Given the description of an element on the screen output the (x, y) to click on. 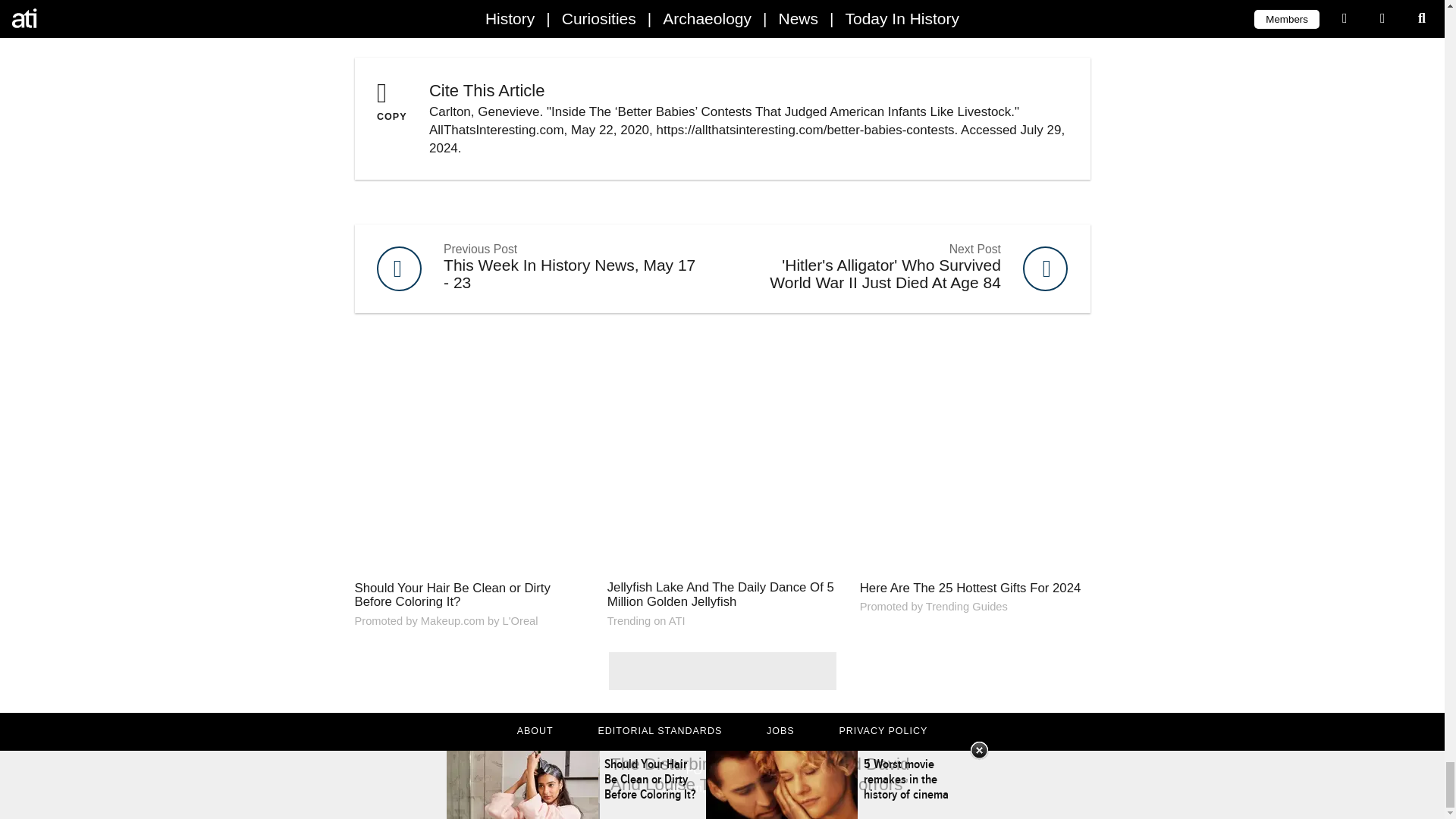
This Week In History News, May 17 - 23 (538, 268)
